Given the description of an element on the screen output the (x, y) to click on. 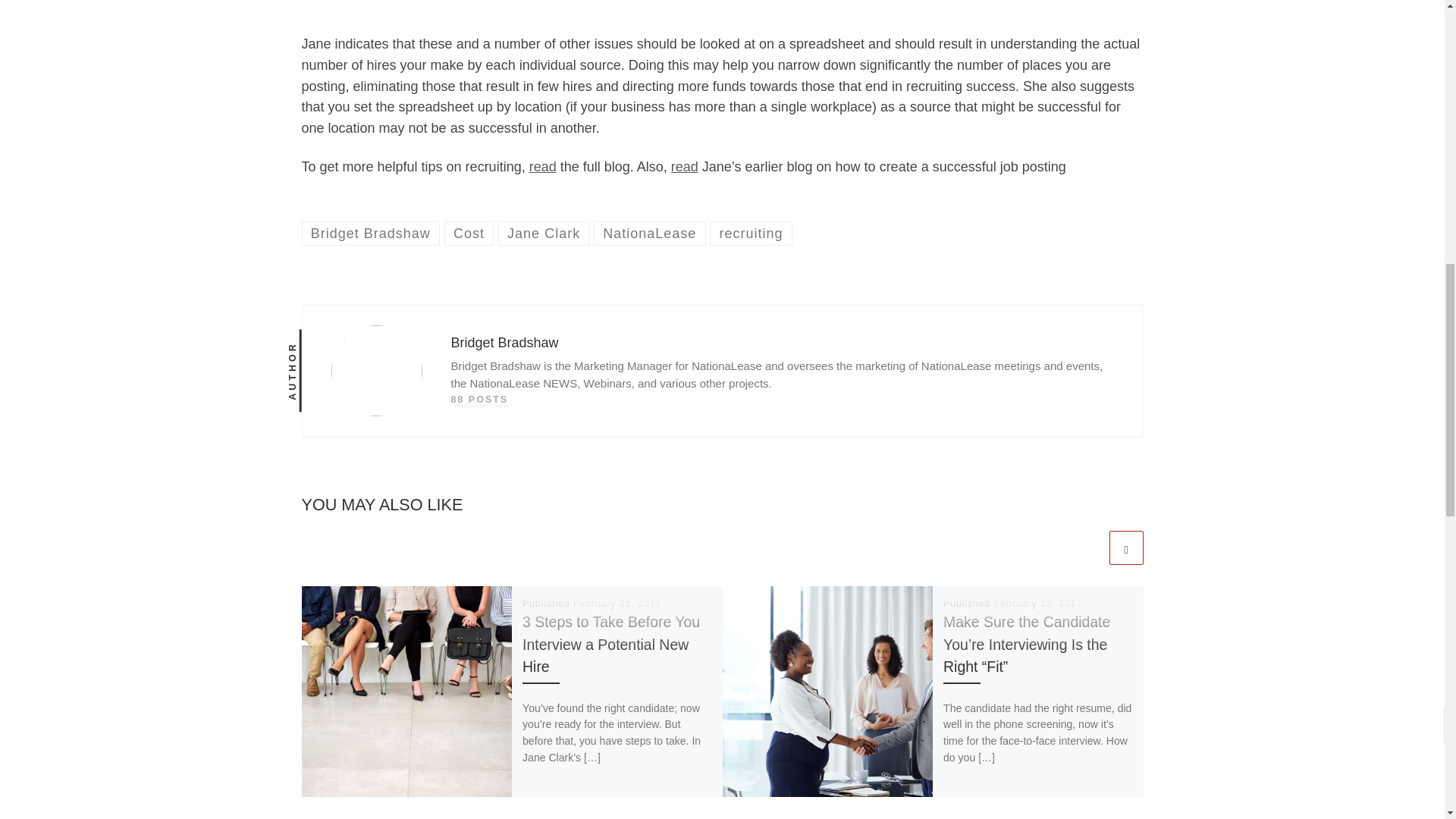
View all posts in Jane Clark (543, 232)
View all posts in Cost (469, 232)
Previous related articles (1088, 547)
View all posts in Bridget Bradshaw (371, 232)
Next related articles (1125, 547)
View all posts in NationaLease (650, 232)
View all posts in recruiting (751, 232)
View all the posts of the author (478, 400)
